Given the description of an element on the screen output the (x, y) to click on. 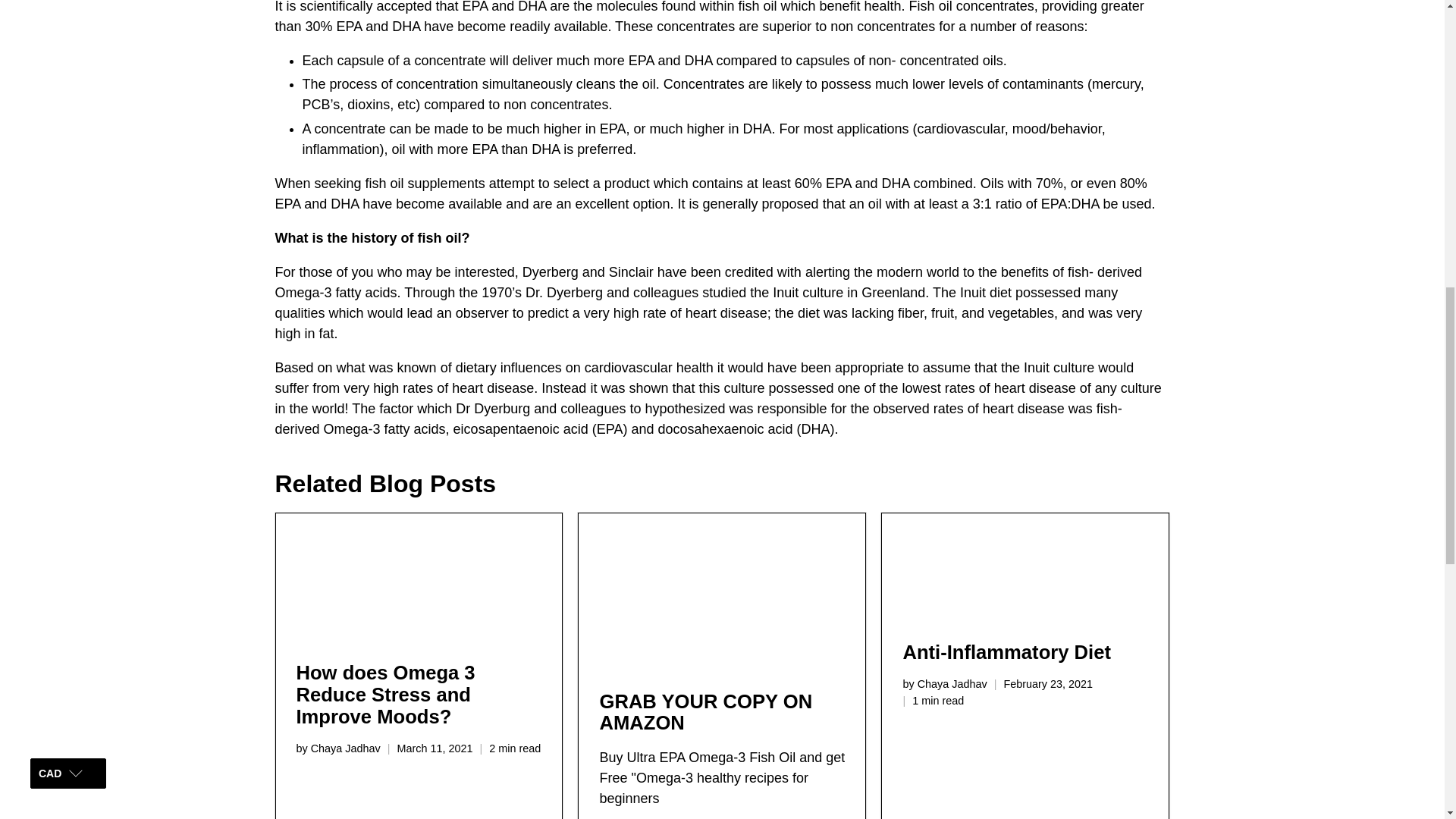
How does Omega 3 Reduce Stress and Improve Moods? (419, 577)
GRAB YOUR COPY ON AMAZON (705, 712)
GRAB YOUR COPY ON AMAZON (705, 712)
by Chaya Jadhav (944, 684)
Anti-Inflammatory Diet (1025, 566)
How does Omega 3 Reduce Stress and Improve Moods? (384, 694)
Anti-Inflammatory Diet (1005, 651)
GRAB YOUR COPY ON AMAZON (721, 591)
Anti-Inflammatory Diet (1005, 651)
by Chaya Jadhav (337, 748)
How does Omega 3 Reduce Stress and Improve Moods? (384, 694)
